Given the description of an element on the screen output the (x, y) to click on. 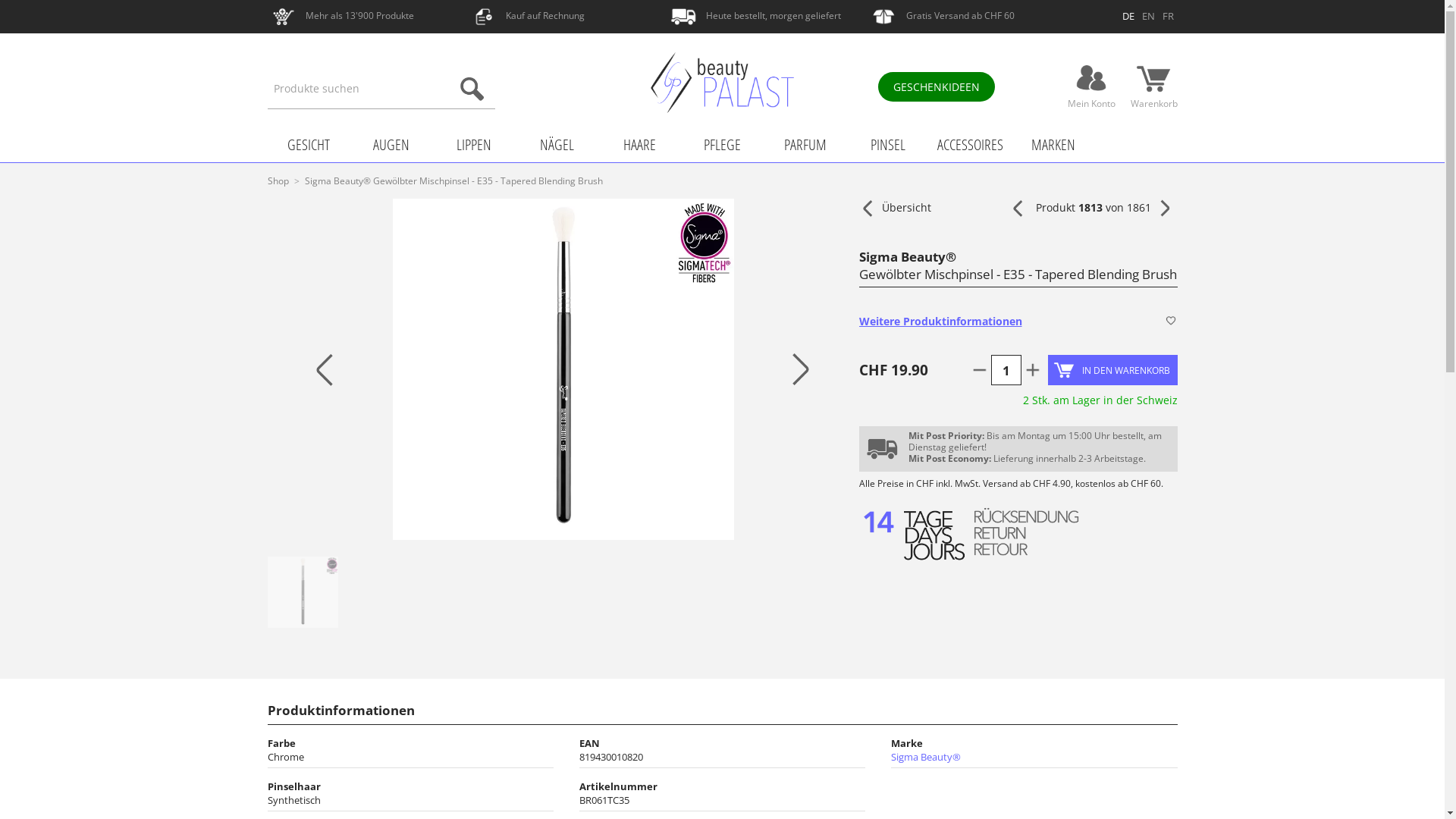
PINSEL Element type: text (887, 145)
ACCESSOIRES Element type: text (969, 145)
PARFUM Element type: text (804, 145)
Warenkorb Element type: text (1152, 78)
LIPPEN Element type: text (474, 145)
GESCHENKIDEEN Element type: text (936, 86)
MARKEN Element type: text (1052, 145)
GESICHT Element type: text (307, 145)
beautyPALAST - Schweizer Online-Shop Element type: hover (721, 82)
HAARE Element type: text (639, 145)
PFLEGE Element type: text (721, 145)
EN Element type: text (1147, 15)
AUGEN Element type: text (391, 145)
FR Element type: text (1167, 15)
In den Warenkorb Element type: text (1112, 369)
Shop Element type: text (278, 180)
DE Element type: text (1127, 15)
Weitere Produktinformationen Element type: text (985, 320)
Mein Konto Element type: text (1091, 78)
